Given the description of an element on the screen output the (x, y) to click on. 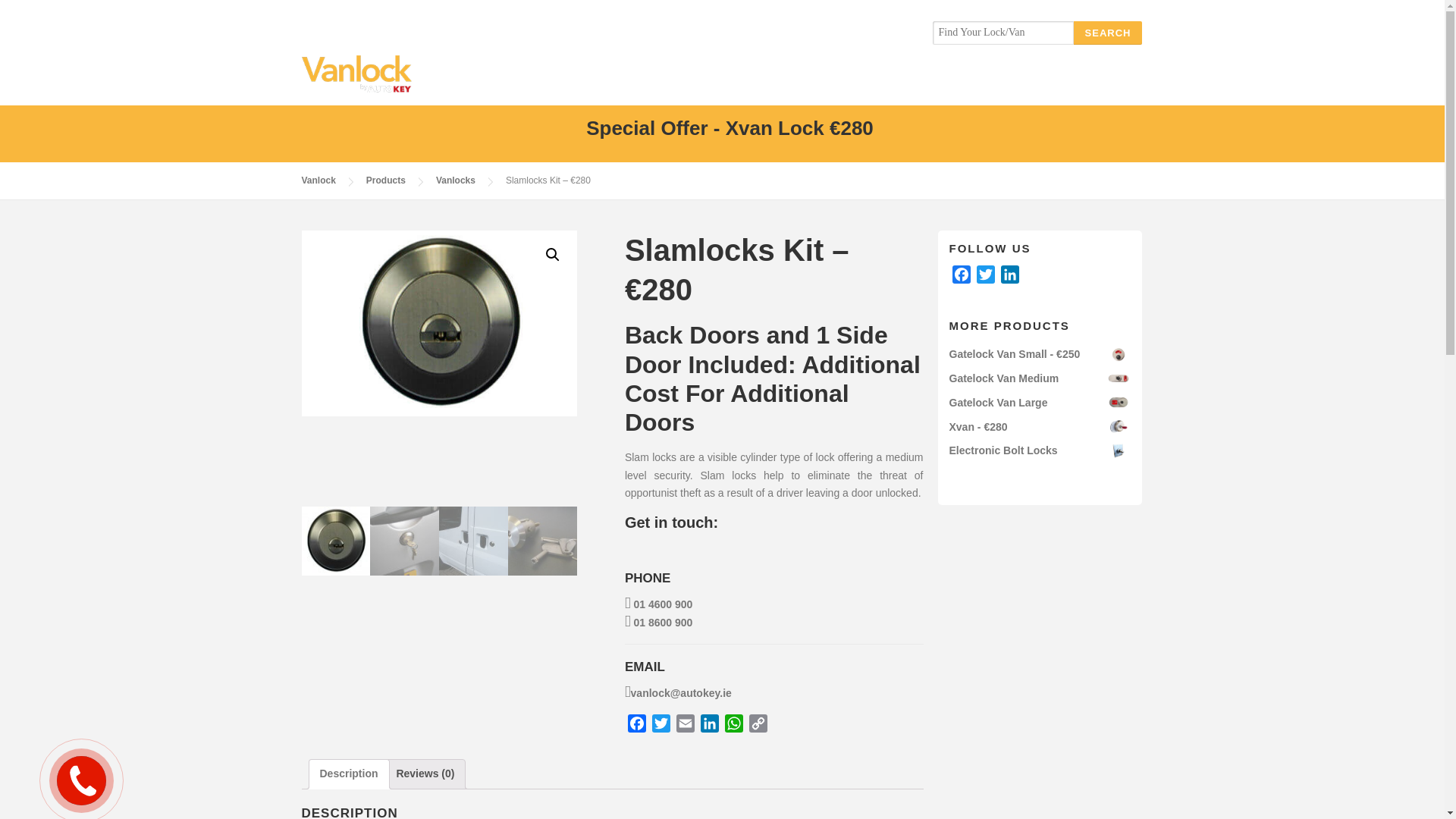
VAN LOCKS (720, 76)
WhatsApp (733, 725)
Go to the Vanlocks Category archives. (455, 180)
Email (684, 725)
Description (349, 774)
Go to Vanlock. (318, 180)
THE COMPANY (622, 76)
Copy Link (757, 725)
Vanlock (318, 180)
SKYBRAKE (976, 76)
PACKAGES (889, 76)
Twitter (660, 725)
LinkedIn (709, 725)
VEHICLES (805, 76)
